Given the description of an element on the screen output the (x, y) to click on. 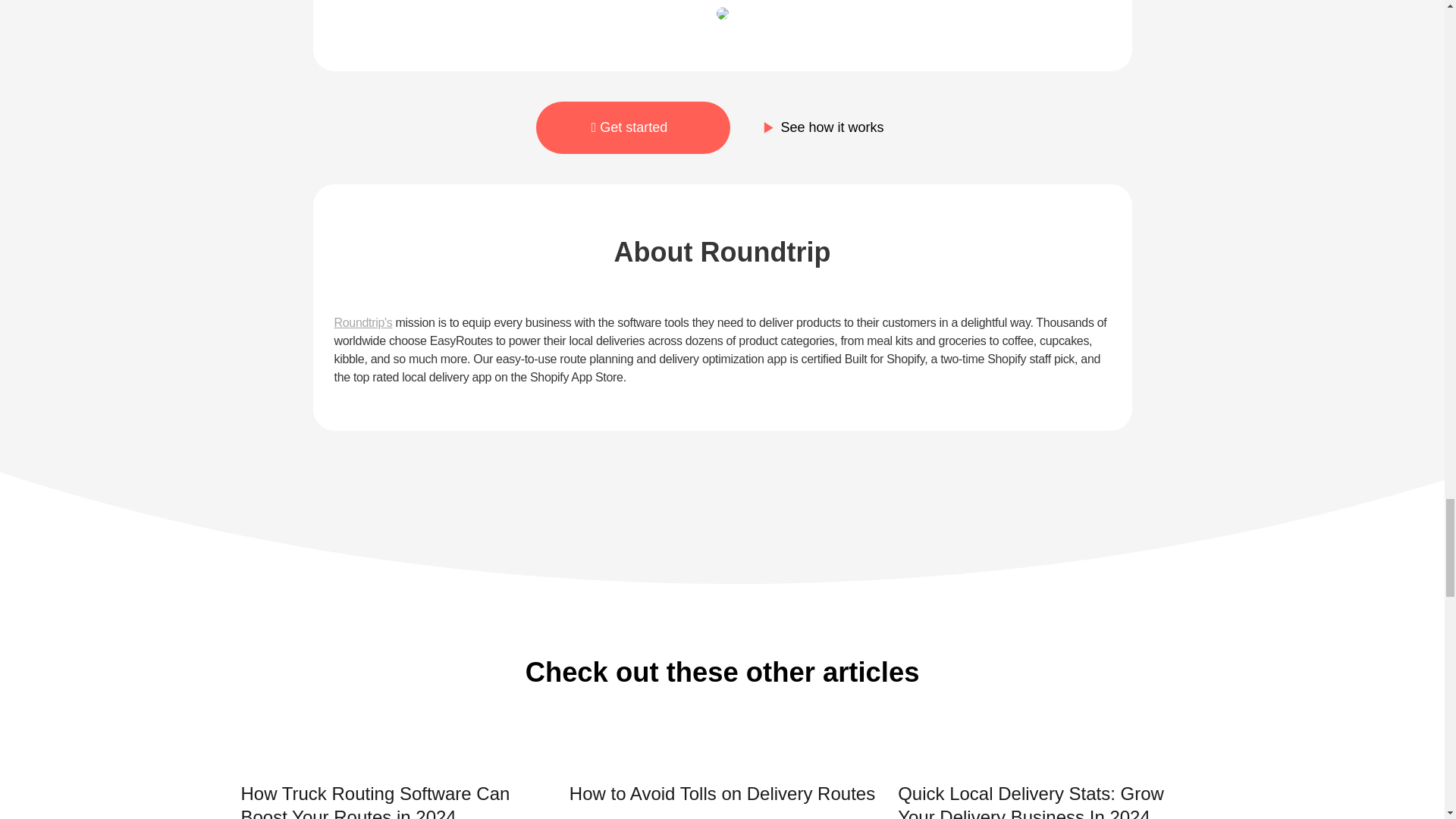
How Truck Routing Software Can Boost Your Routes in 2024 (394, 783)
Roundtrip's (362, 322)
How to Avoid Tolls on Delivery Routes (722, 780)
